Given the description of an element on the screen output the (x, y) to click on. 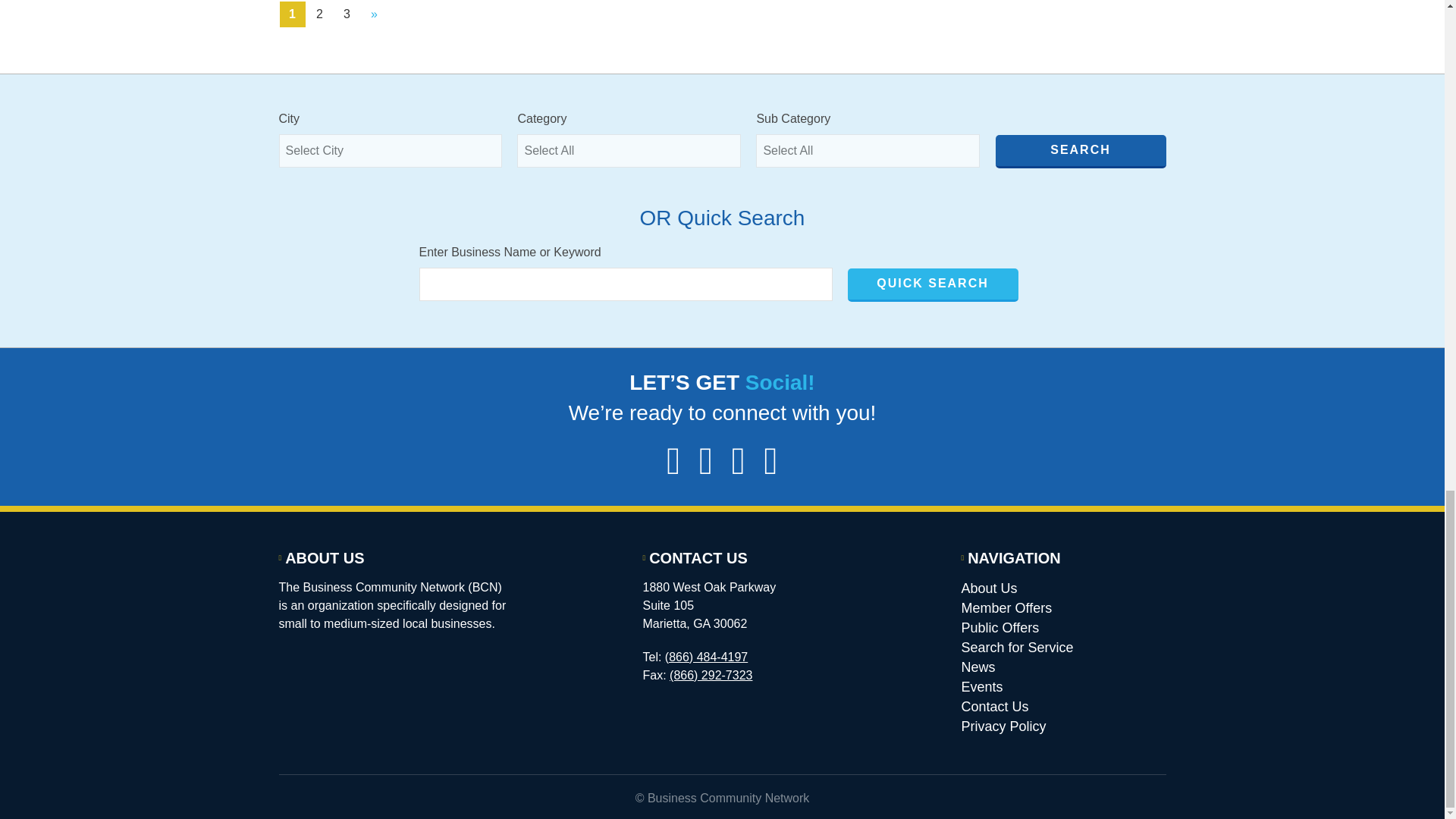
Search (1080, 151)
Quick Search (932, 285)
Page 3 (346, 14)
Page 2 (318, 14)
